Given the description of an element on the screen output the (x, y) to click on. 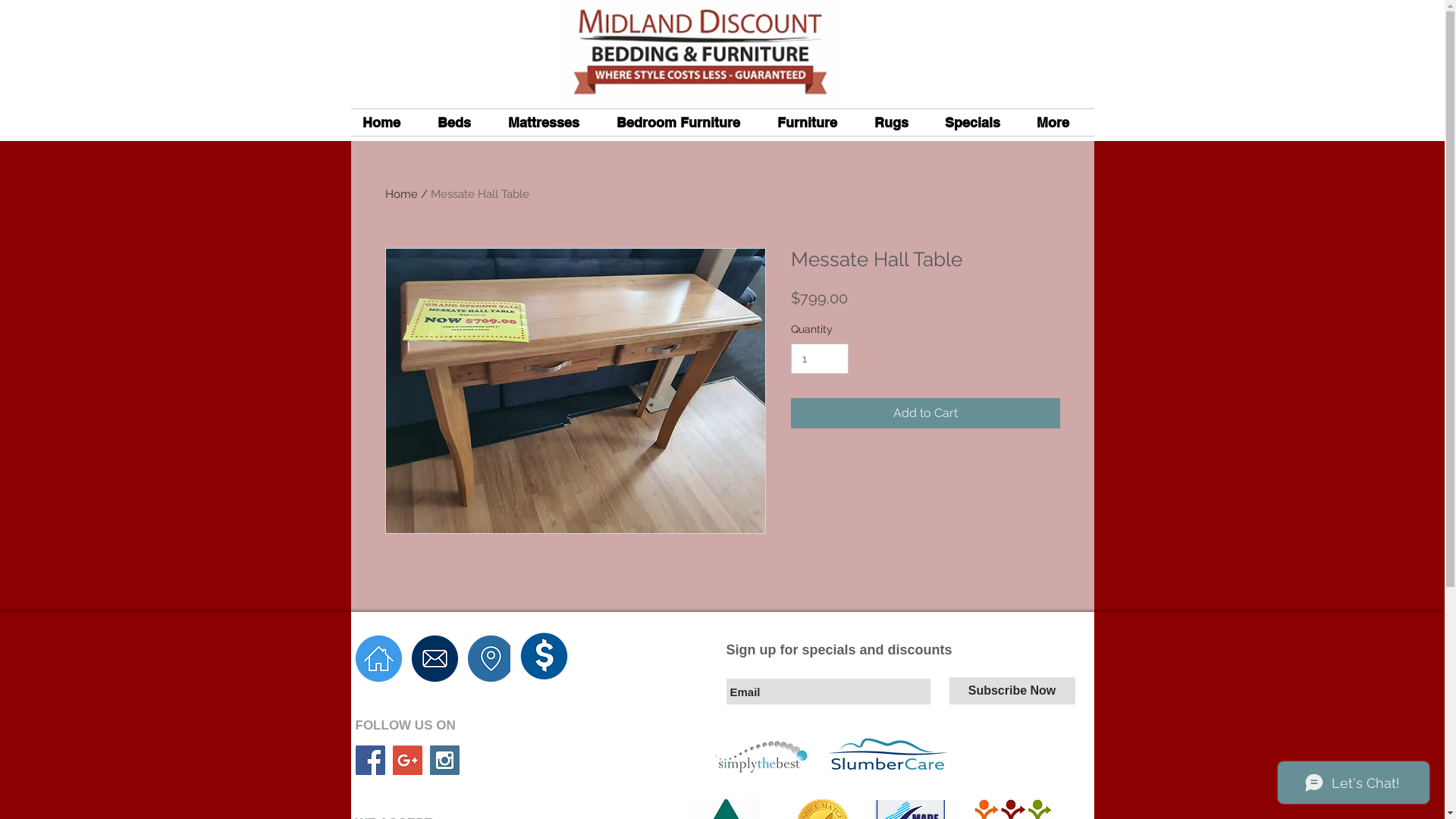
Rugs Element type: text (897, 122)
Bedroom Furniture Element type: text (685, 122)
Add to Cart Element type: text (924, 413)
Home Element type: text (401, 193)
Midland Discount Logo.png Element type: hover (699, 54)
Beds Element type: text (461, 122)
Specials Element type: text (978, 122)
Messate Hall Table Element type: text (479, 193)
Furniture Element type: text (813, 122)
Subscribe Now Element type: text (1012, 690)
Mattresses Element type: text (549, 122)
Home Element type: text (387, 122)
